Given the description of an element on the screen output the (x, y) to click on. 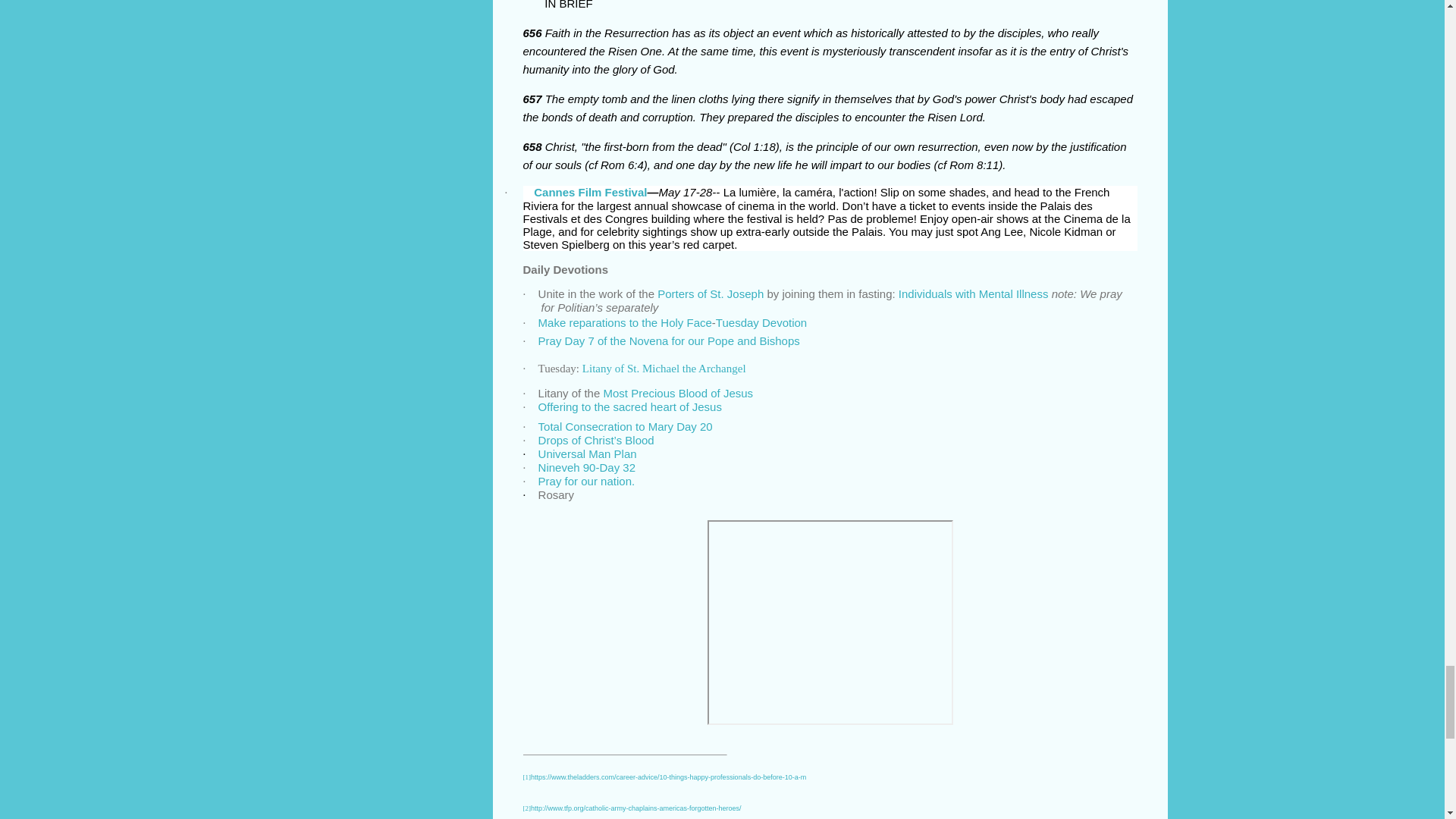
Total Consecration to Mary Day 20 (625, 426)
Litany of St. Michael the Archangel (663, 367)
Nineveh 90-Day 32 (586, 467)
Cannes Film Festival (590, 192)
Pray Day 7 of the Novena for our Pope and Bishops (668, 340)
Most Precious Blood of Jesus (677, 392)
Pray for our nation. (586, 481)
Offering to the sacred heart of Jesus (630, 406)
Make reparations to the Holy Face (624, 322)
Tuesday Devotion (761, 322)
